Given the description of an element on the screen output the (x, y) to click on. 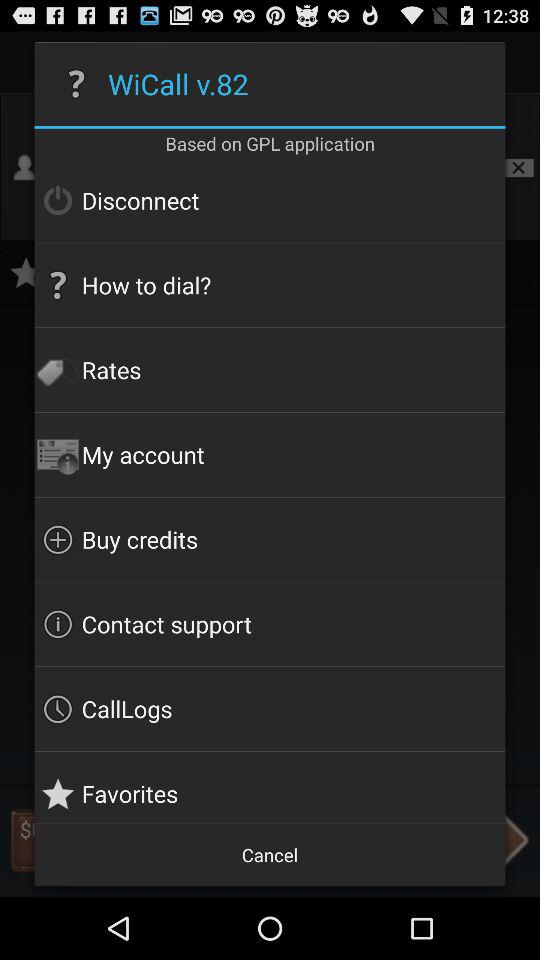
jump to the cancel icon (269, 854)
